Given the description of an element on the screen output the (x, y) to click on. 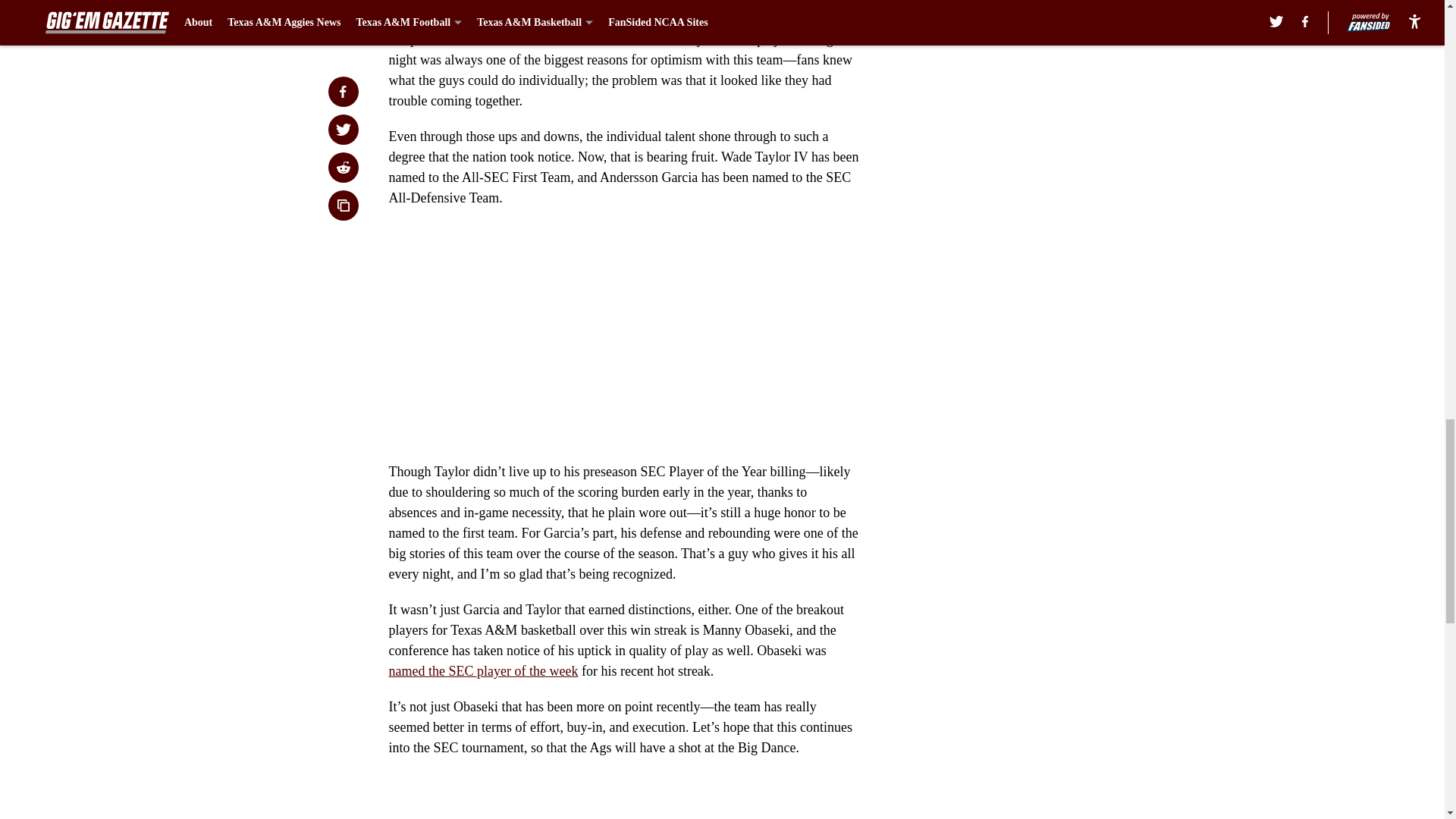
named the SEC player of the week (483, 670)
